Given the description of an element on the screen output the (x, y) to click on. 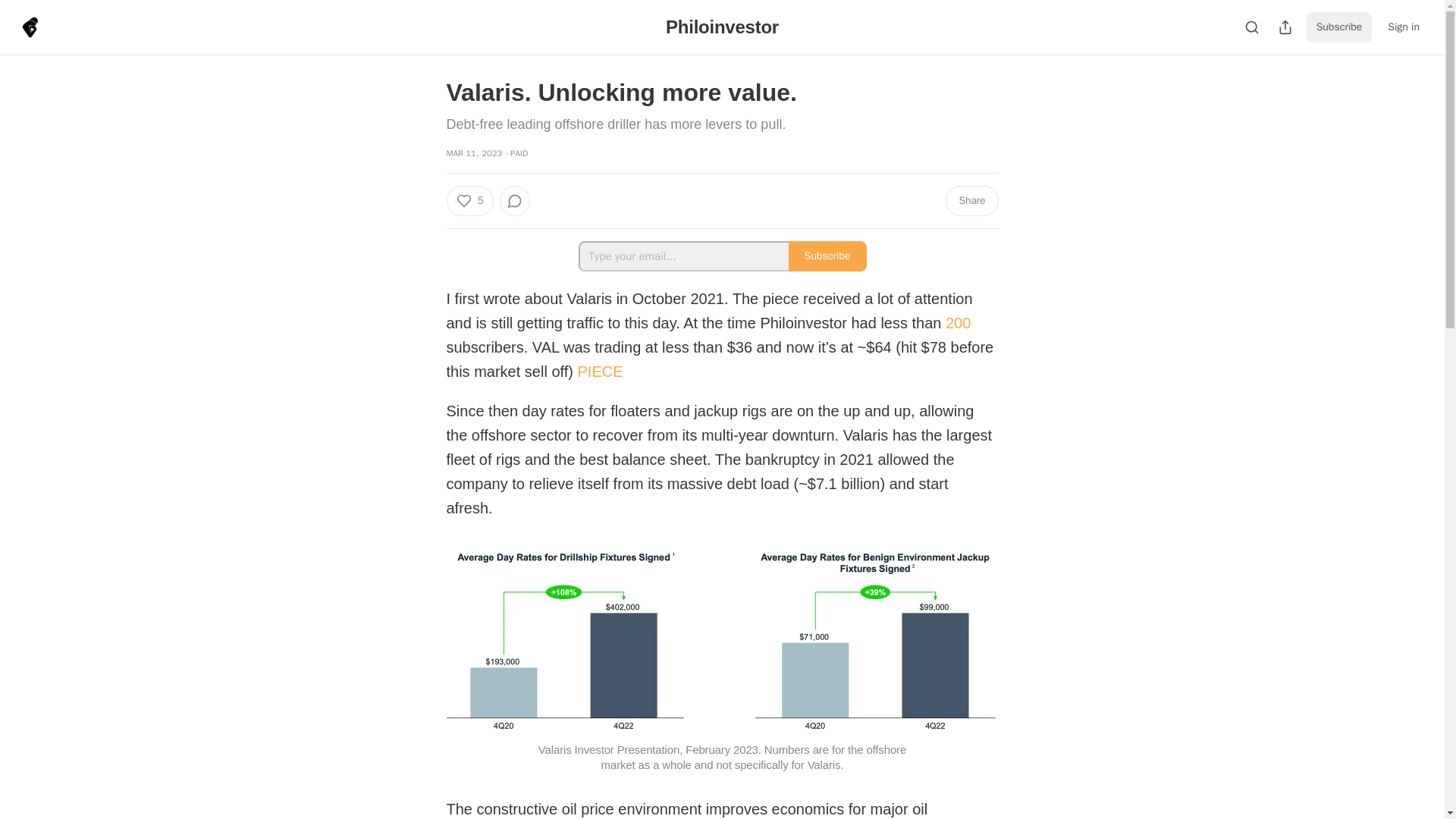
Philoinvestor (721, 26)
Sign in (1403, 27)
PIECE (600, 371)
200 (957, 322)
Subscribe (827, 255)
Subscribe (1339, 27)
Share (970, 200)
5 (469, 200)
